Given the description of an element on the screen output the (x, y) to click on. 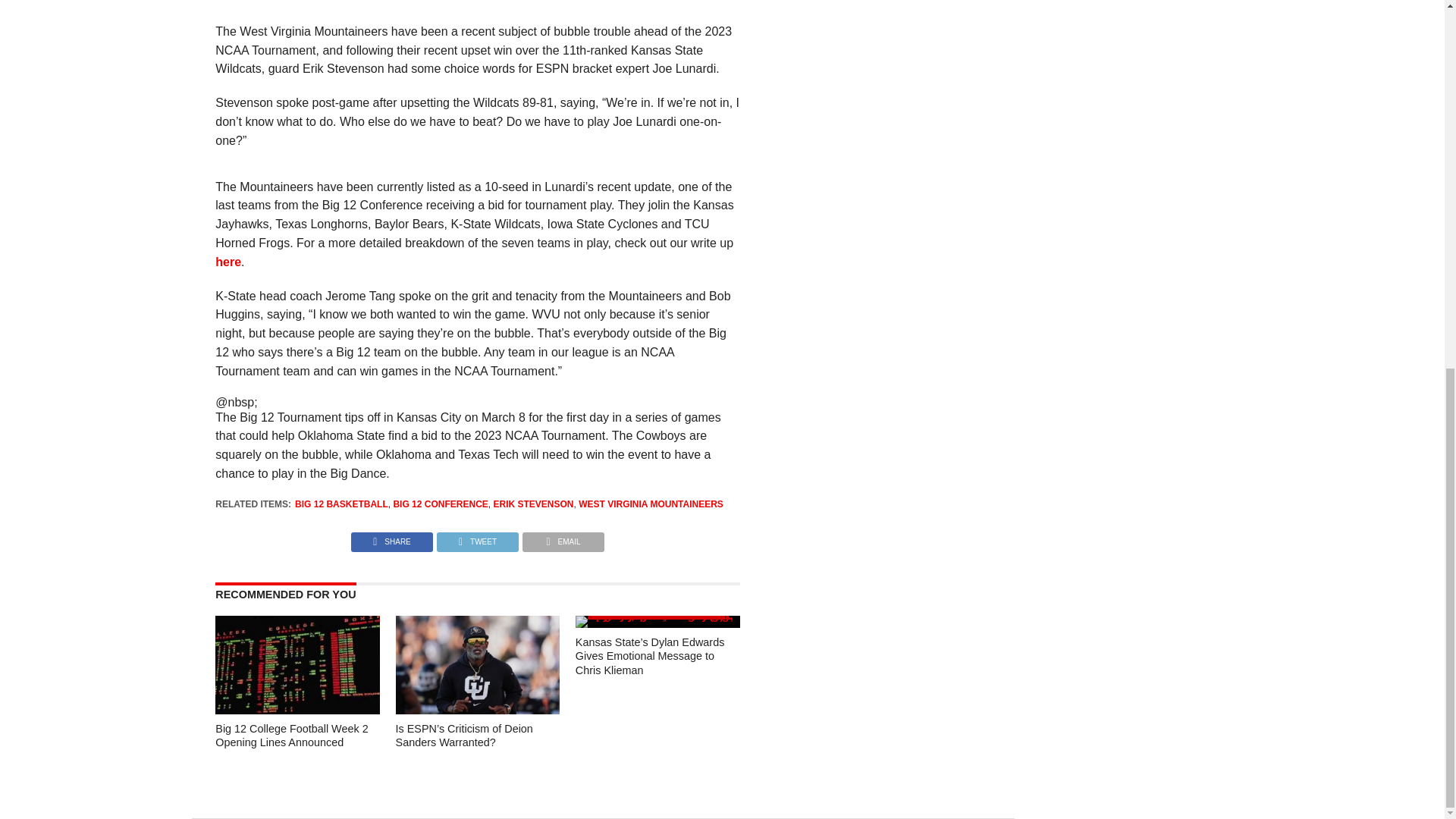
Big 12 College Football Week 2 Opening Lines Announced (297, 709)
Tweet This Post (476, 537)
Share on Facebook (391, 537)
